Given the description of an element on the screen output the (x, y) to click on. 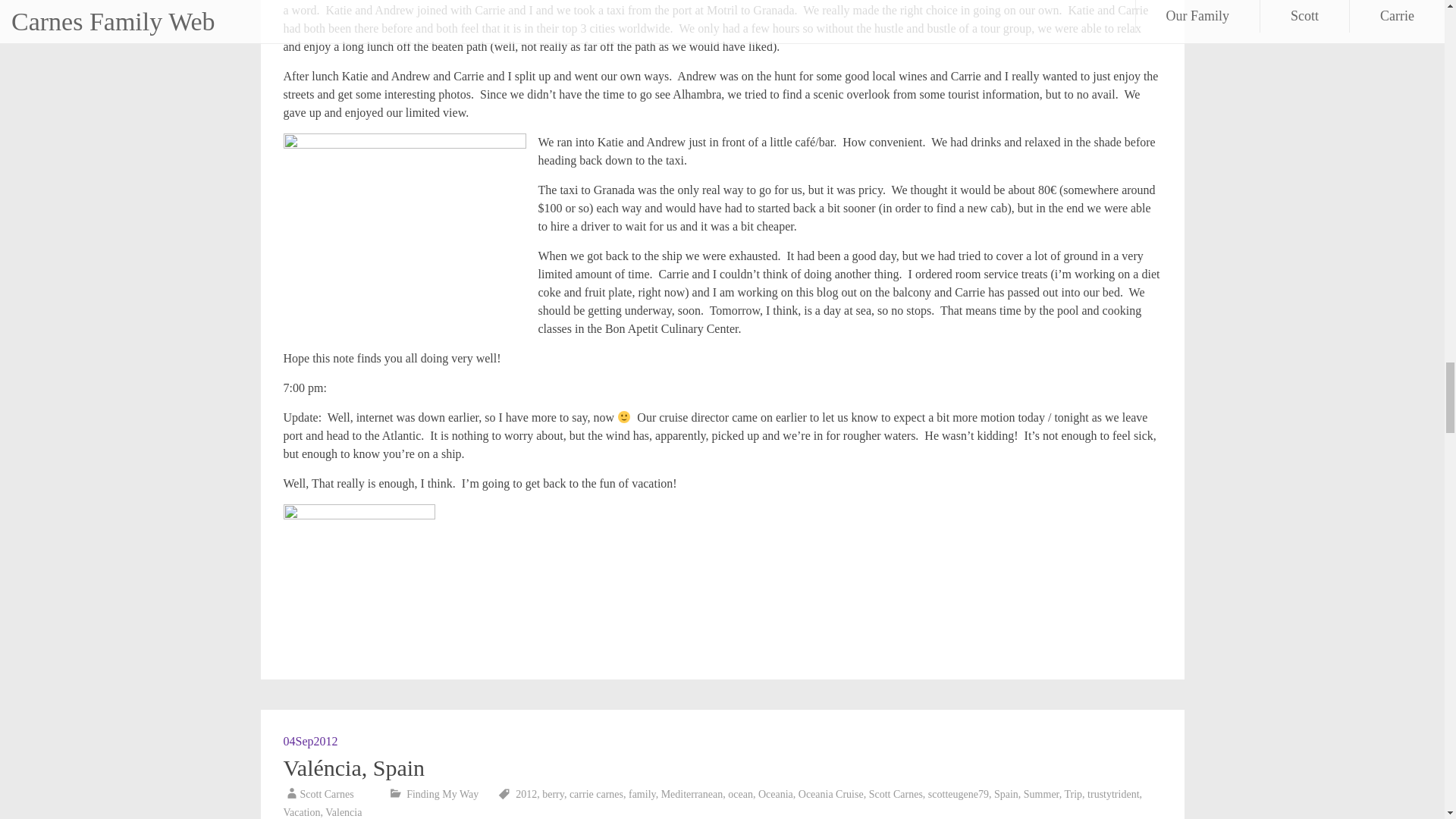
2:40 pm (310, 740)
